Given the description of an element on the screen output the (x, y) to click on. 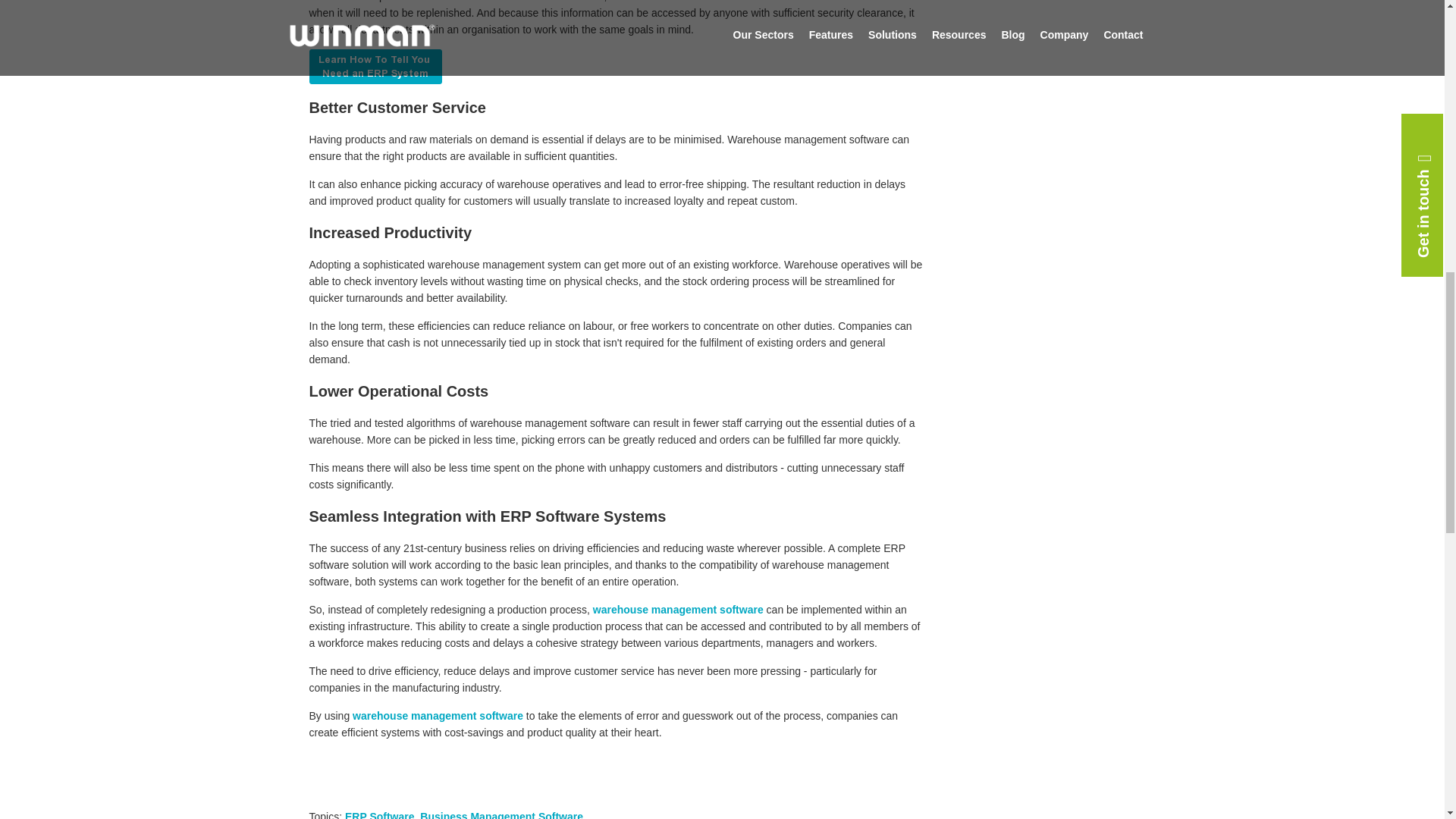
warehouse management software (677, 609)
warehouse management software (437, 715)
